Given the description of an element on the screen output the (x, y) to click on. 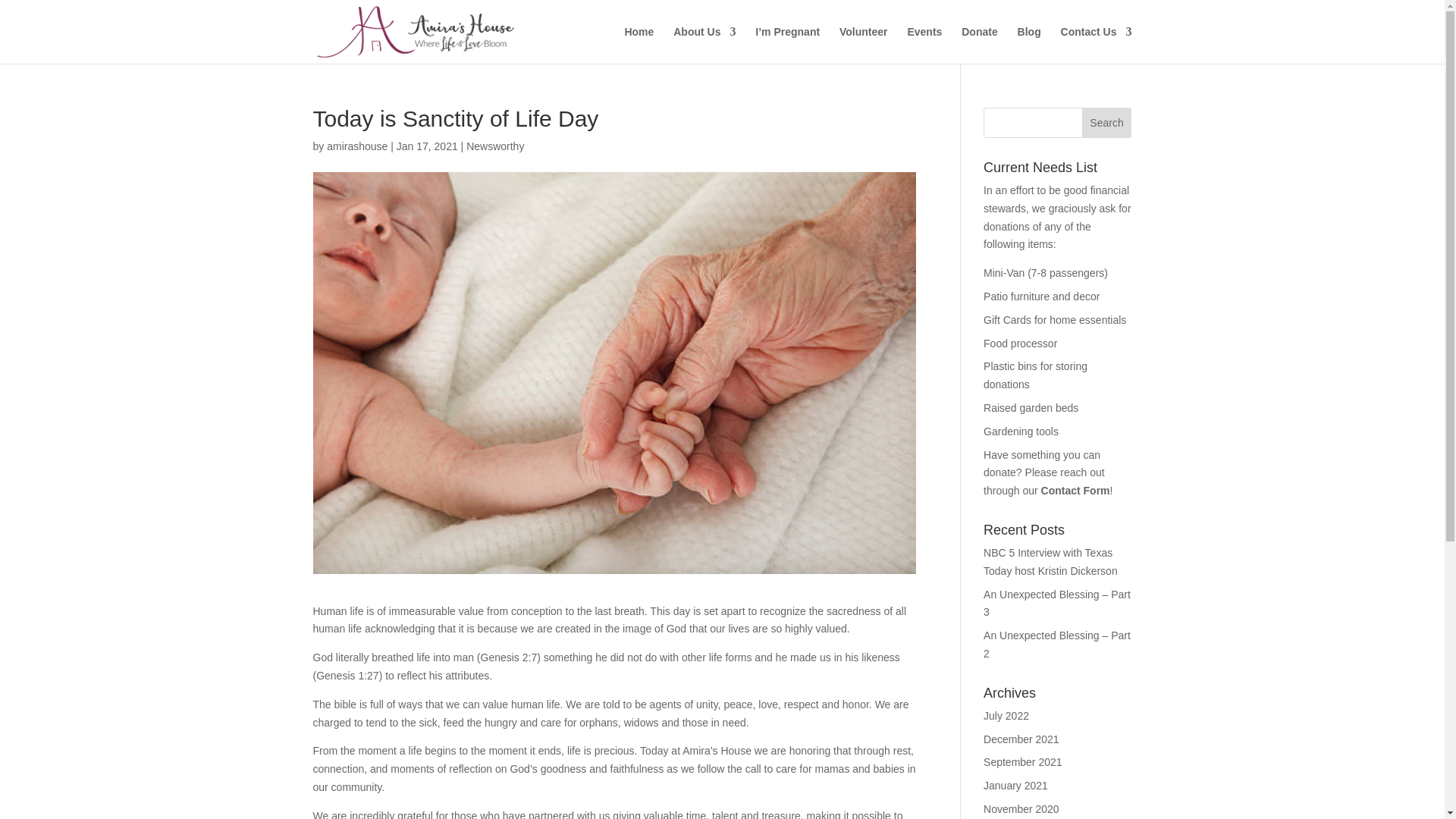
July 2022 (1006, 715)
November 2020 (1021, 808)
January 2021 (1016, 785)
About Us (703, 44)
Contact Us (1096, 44)
Posts by amirashouse (356, 146)
Newsworthy (494, 146)
Donate (978, 44)
Events (924, 44)
December 2021 (1021, 739)
